Given the description of an element on the screen output the (x, y) to click on. 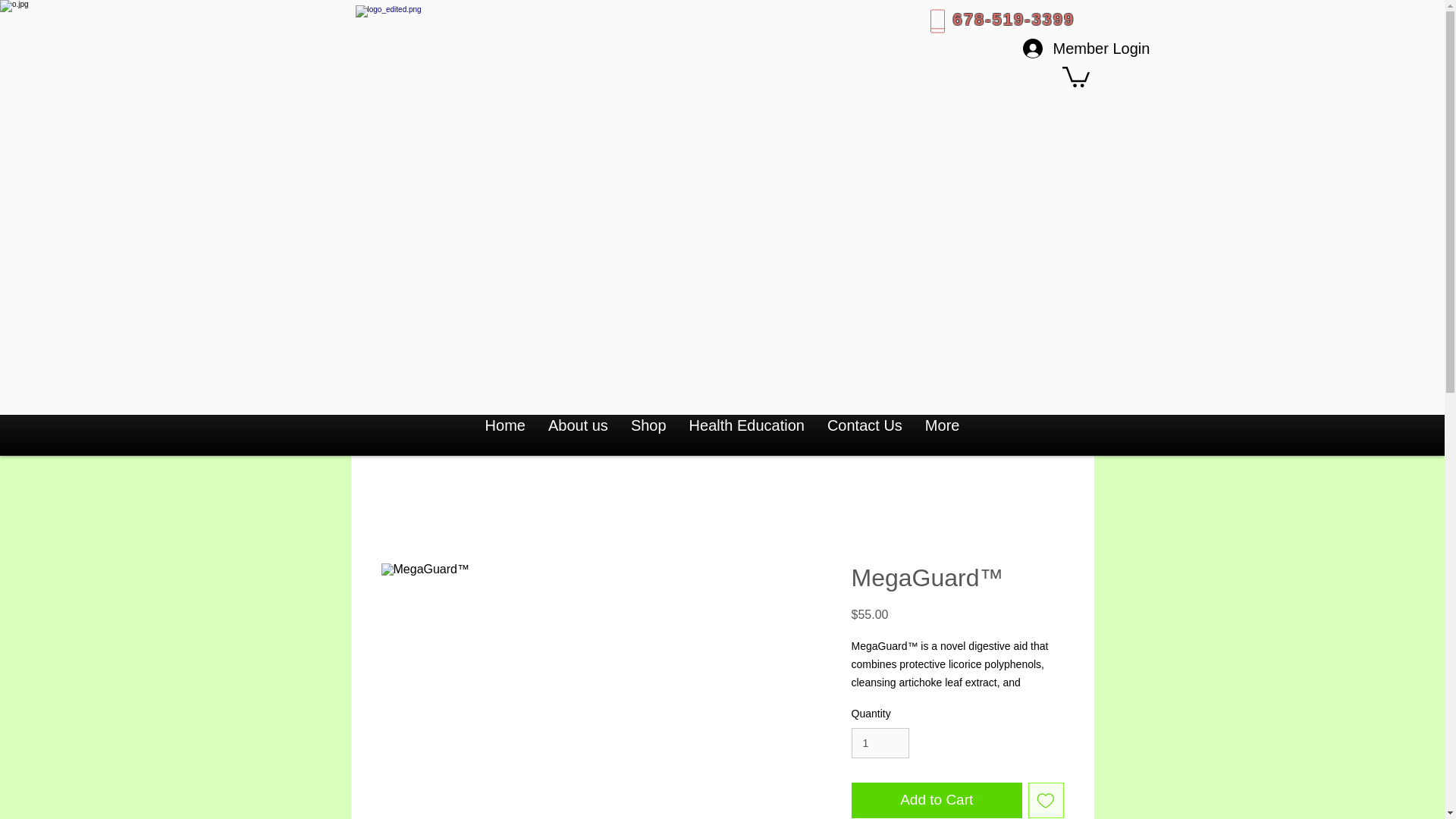
About us (578, 434)
Contact Us (864, 434)
Health Education (746, 434)
1 (879, 743)
Member Login (1052, 48)
Home (505, 434)
Add to Cart (936, 800)
Shop (649, 434)
